Given the description of an element on the screen output the (x, y) to click on. 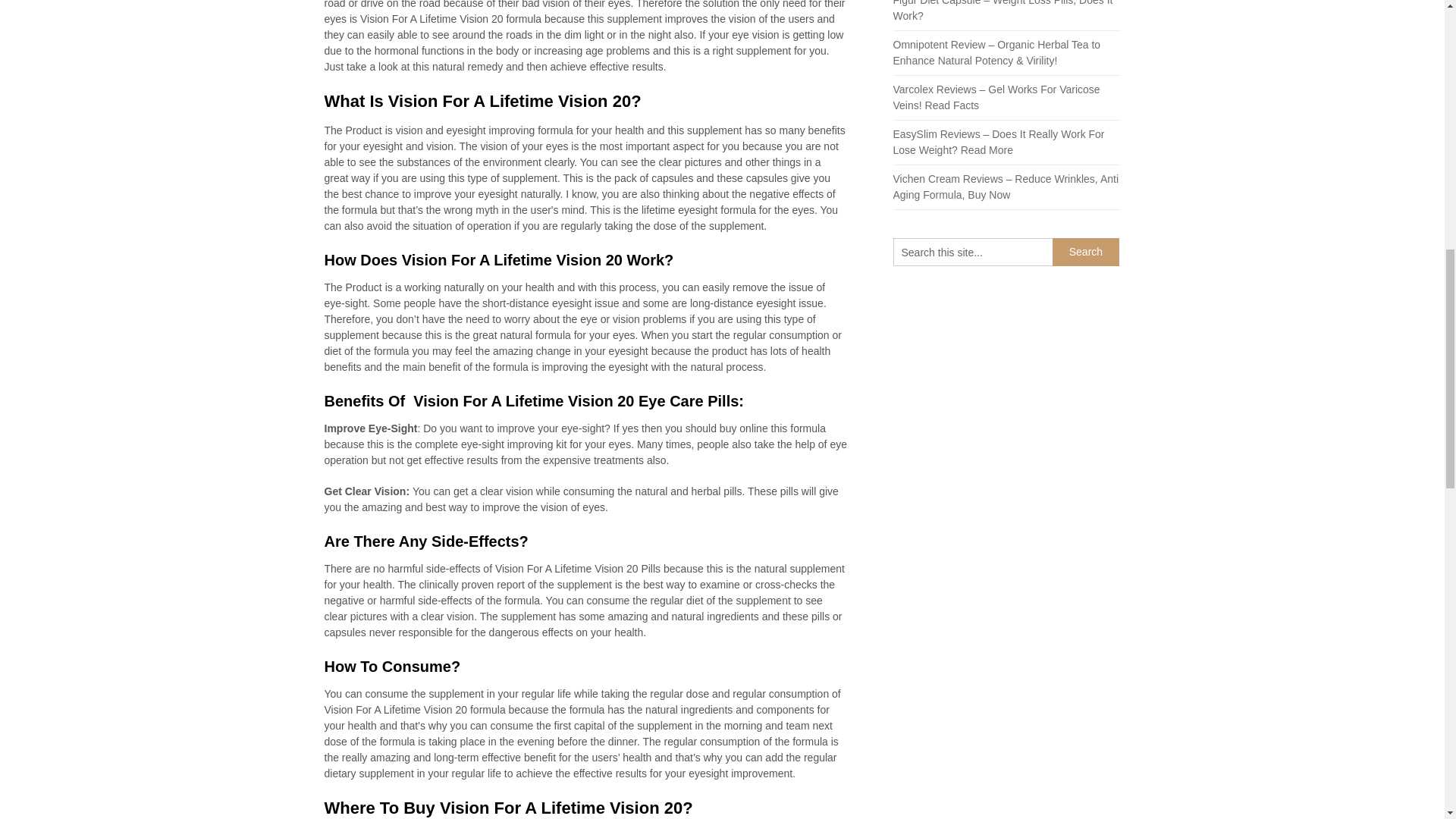
Search (1085, 252)
Search (1085, 252)
Search this site... (972, 252)
